Given the description of an element on the screen output the (x, y) to click on. 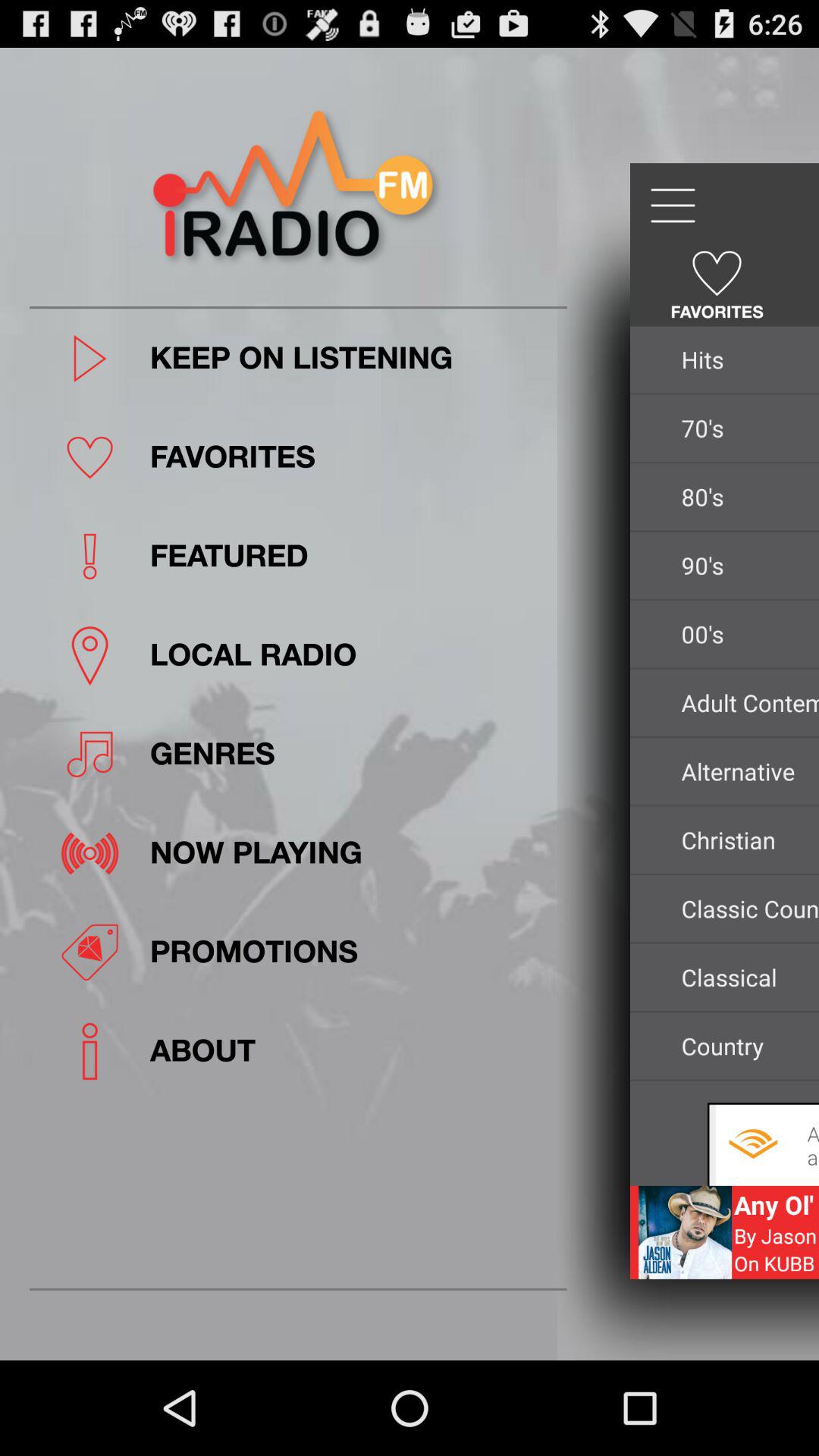
tap app above promotions (353, 853)
